Given the description of an element on the screen output the (x, y) to click on. 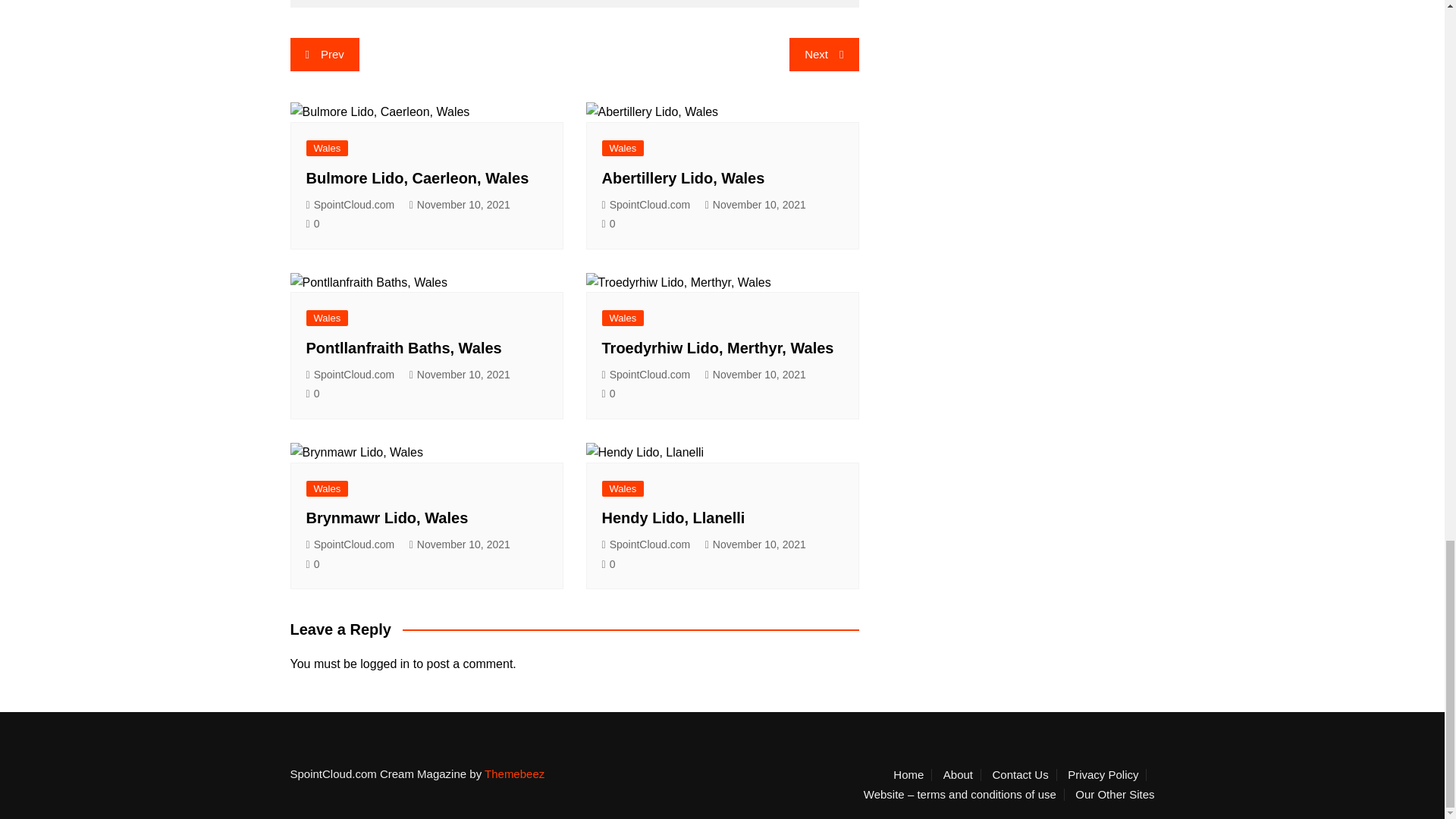
SpointCloud.com (349, 204)
Prev (323, 54)
Wales (327, 148)
Next (824, 54)
Bulmore Lido, Caerleon, Wales (417, 177)
